Given the description of an element on the screen output the (x, y) to click on. 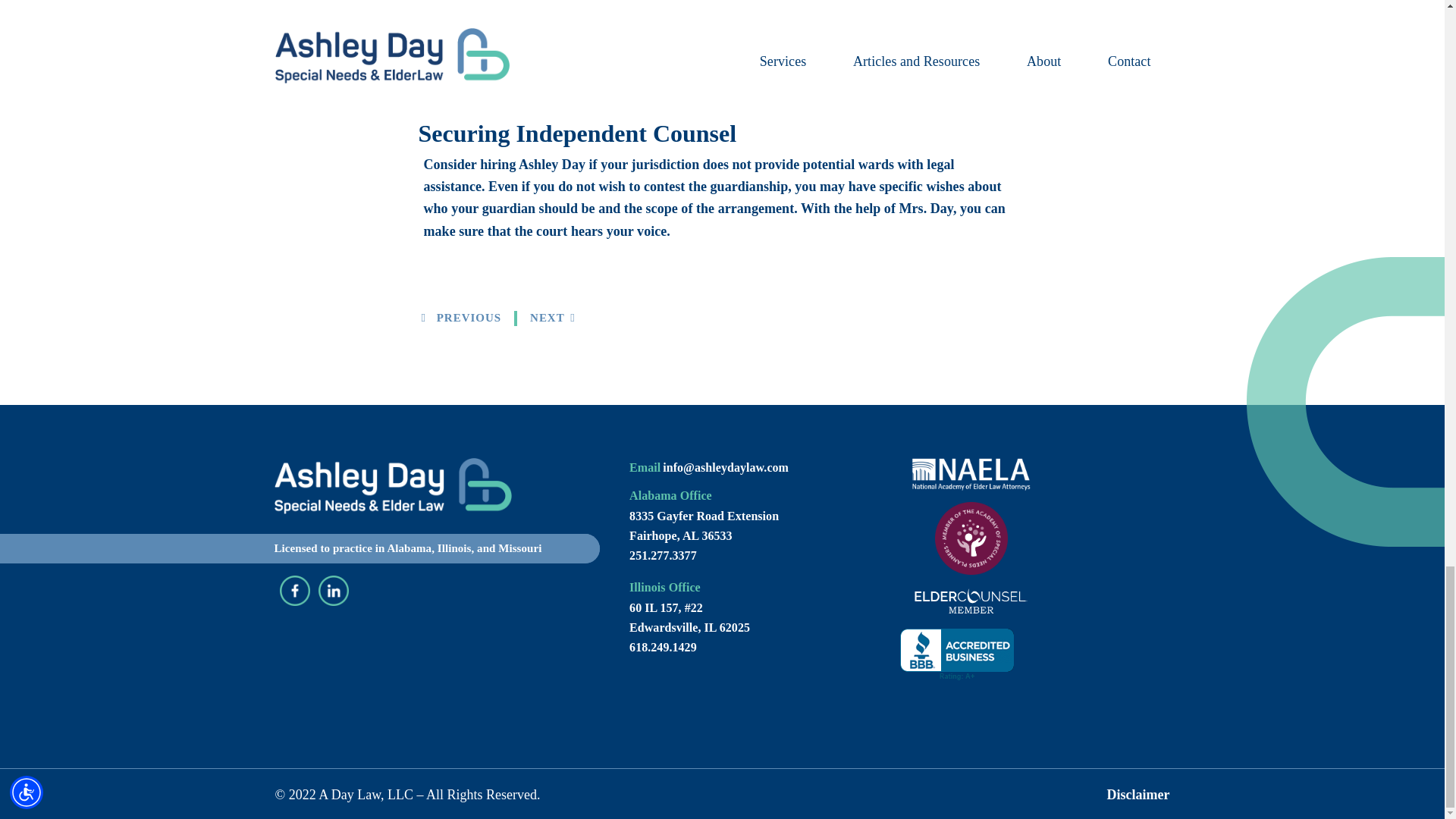
NEXT (552, 317)
251.277.3377 (662, 554)
Facebook (293, 598)
PREVIOUS (462, 317)
618.249.1429 (662, 646)
Disclaimer (1138, 794)
LinkedIn (333, 598)
